Given the description of an element on the screen output the (x, y) to click on. 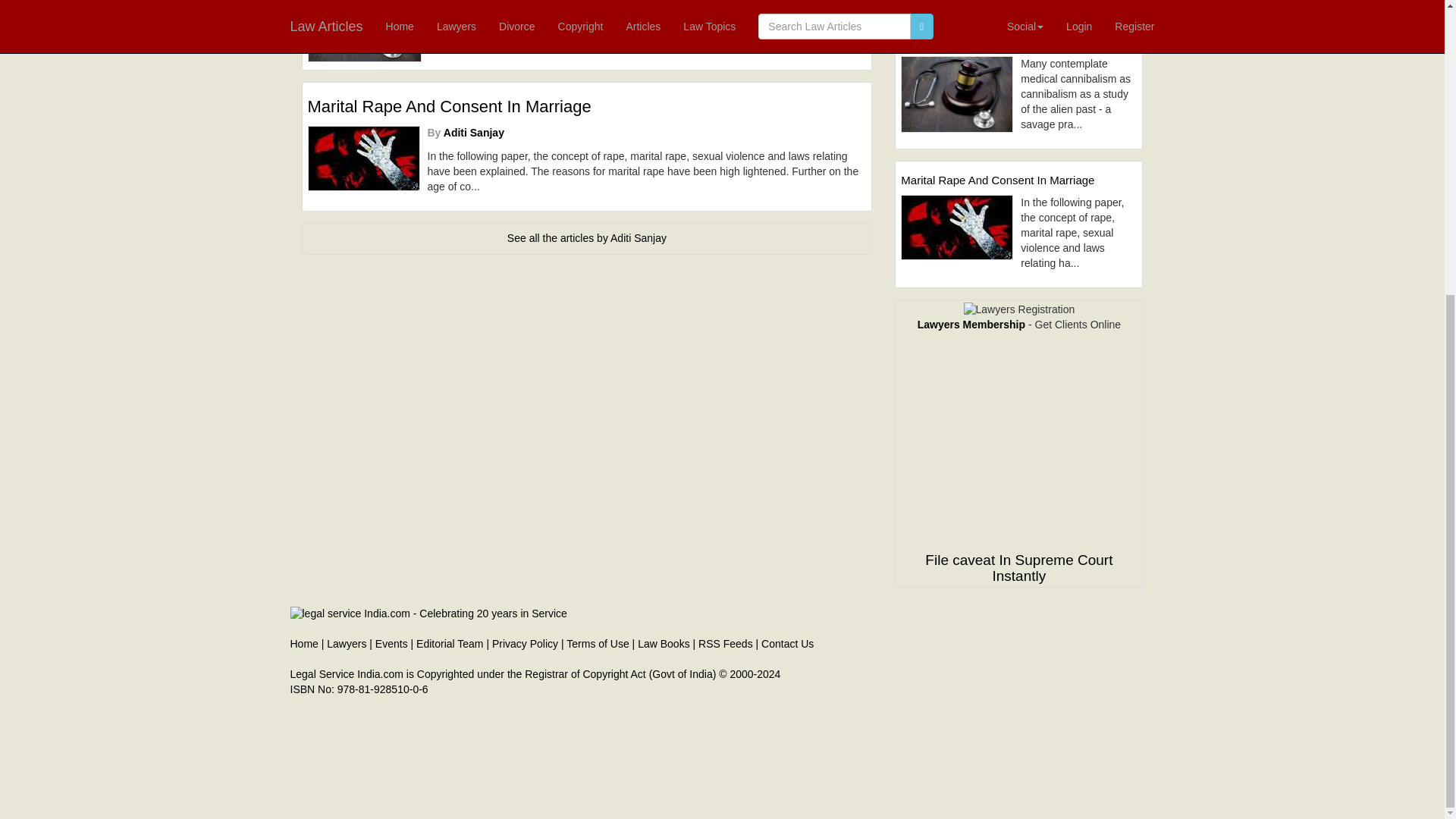
Marital Rape And Consent In Marriage (1019, 180)
Contact Us (787, 644)
Events (391, 644)
Editorial Team (449, 644)
RSS Feeds (725, 644)
See all the articles by Aditi Sanjay (586, 237)
Lawyers Membership (971, 324)
Lawyers (346, 644)
Aditi Sanjay (473, 132)
Privacy Policy (524, 644)
File caveat In Supreme Court Instantly (1018, 567)
Terms of Use (597, 644)
Home (303, 644)
Medical Cannibalism And Organ Donation (1019, 42)
Marital Rape And Consent In Marriage (586, 106)
